Given the description of an element on the screen output the (x, y) to click on. 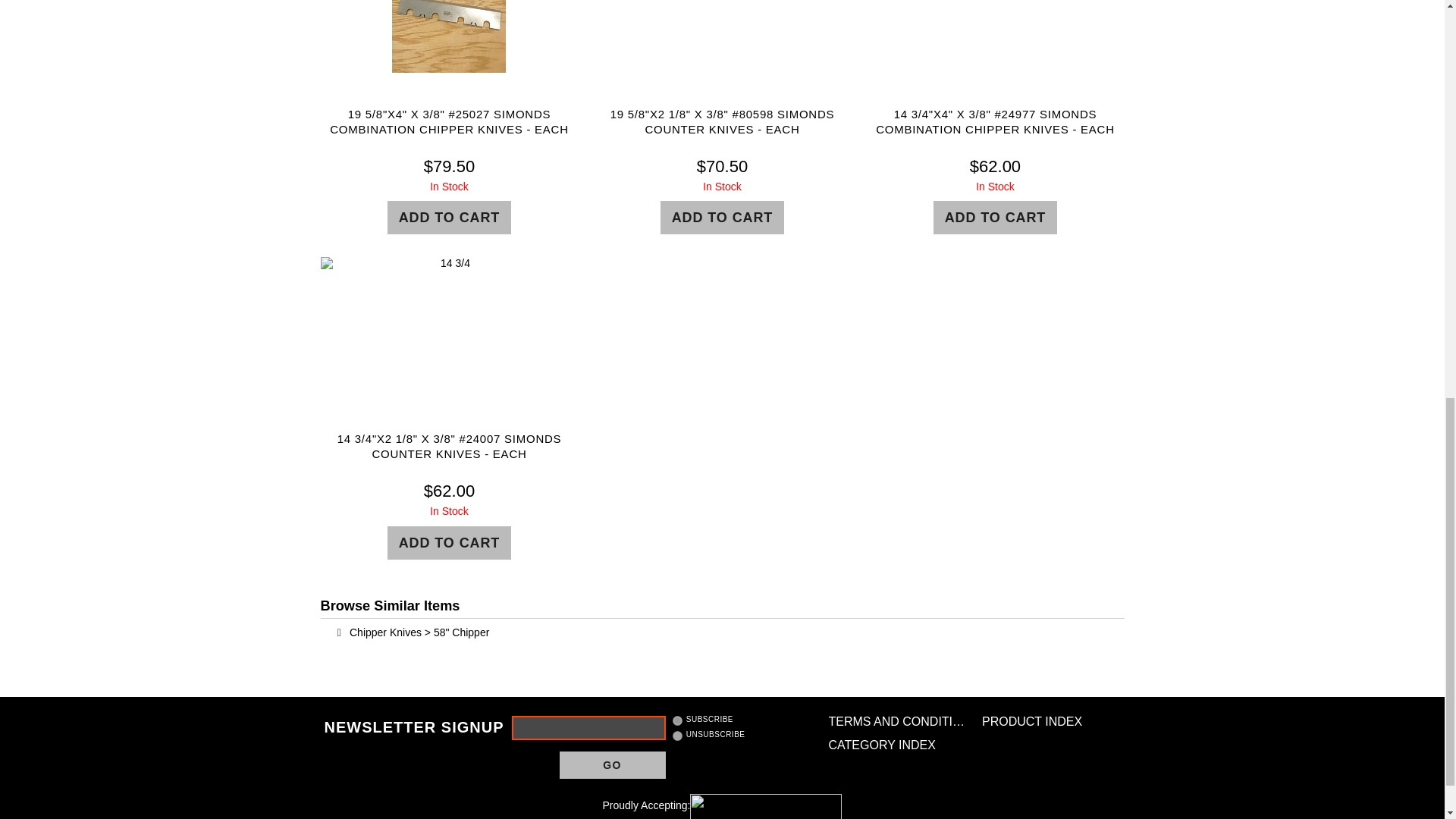
Add To Cart (722, 217)
Add To Cart (449, 217)
Add To Cart (449, 542)
1 (677, 720)
0 (677, 736)
Add To Cart (995, 217)
